Given the description of an element on the screen output the (x, y) to click on. 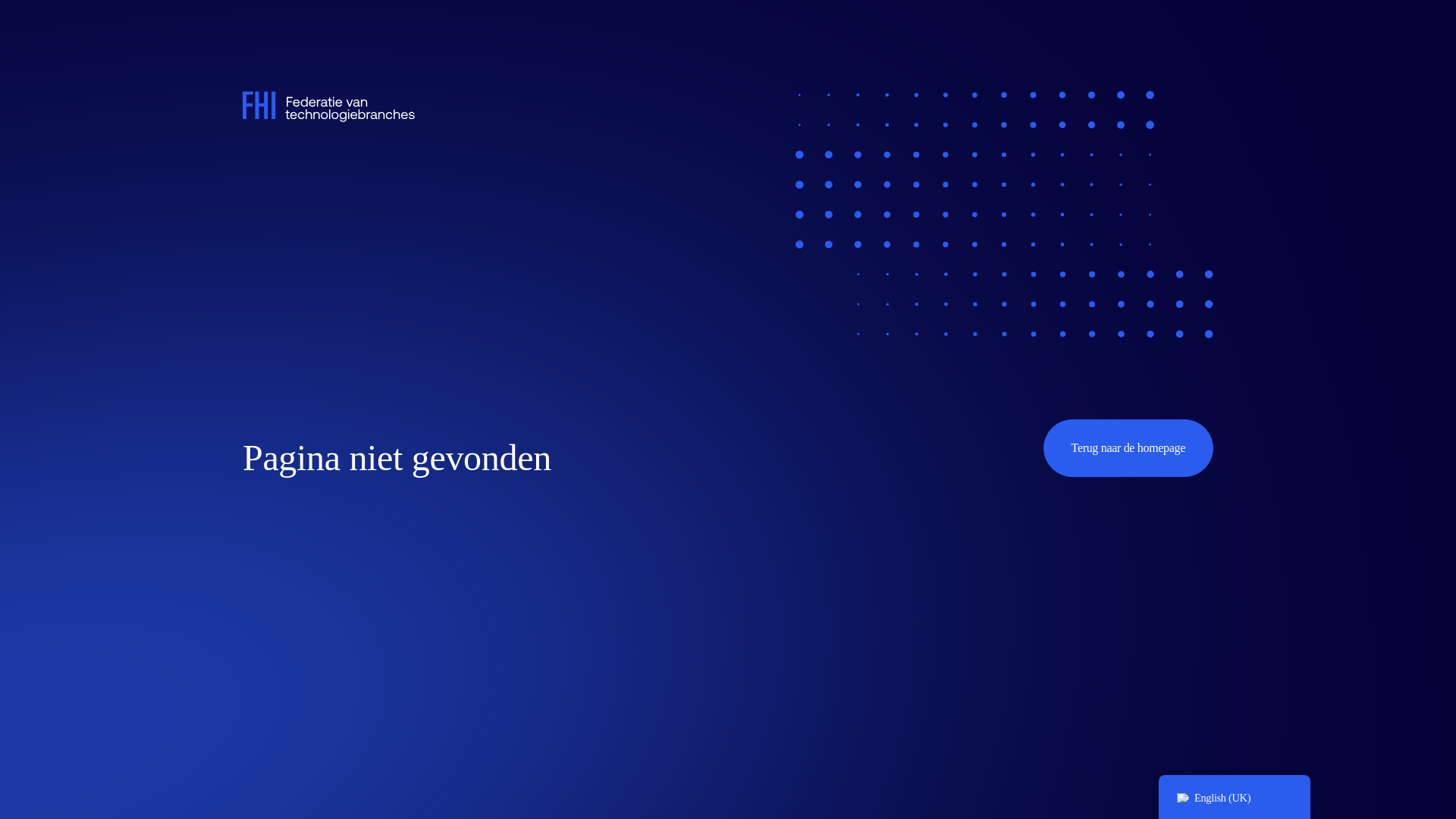
Terug naar de homepage (1127, 447)
